Given the description of an element on the screen output the (x, y) to click on. 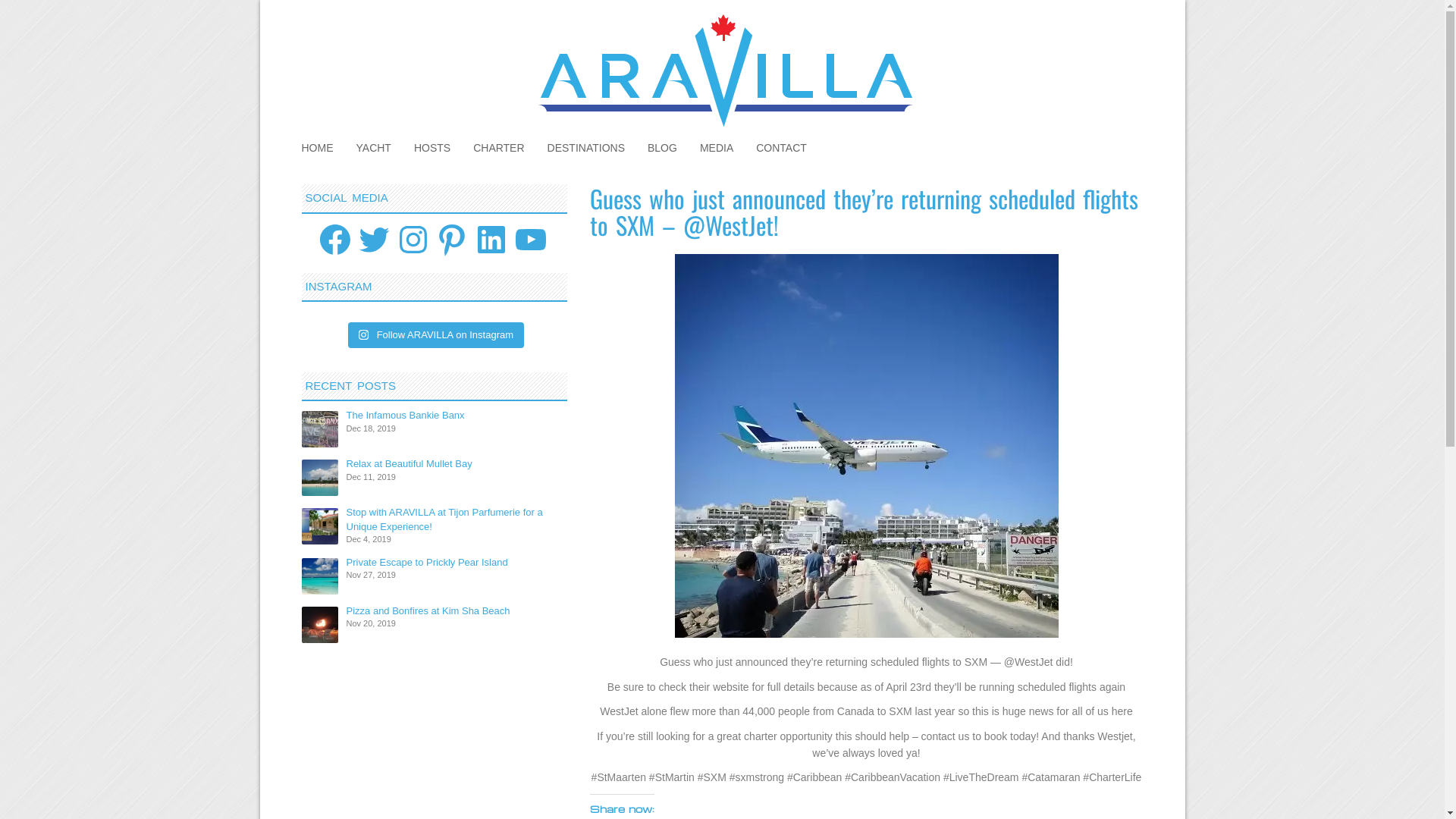
Pizza and Bonfires at Kim Sha Beach Element type: text (427, 610)
Twitter Element type: text (373, 239)
HOME Element type: text (316, 147)
HOSTS Element type: text (431, 147)
Facebook Element type: text (334, 239)
CHARTER Element type: text (498, 147)
SKIP TO CONTENT Element type: text (300, 139)
The Infamous Bankie Banx Element type: text (404, 414)
YACHT Element type: text (372, 147)
Pinterest Element type: text (451, 239)
Follow ARAVILLA on Instagram Element type: text (436, 335)
MEDIA Element type: text (716, 147)
YouTube Element type: text (530, 239)
Instagram Element type: text (413, 239)
CONTACT Element type: text (781, 147)
Private Escape to Prickly Pear Island Element type: text (426, 561)
BLOG Element type: text (662, 147)
Relax at Beautiful Mullet Bay Element type: text (408, 463)
LinkedIn Element type: text (491, 239)
DESTINATIONS Element type: text (586, 147)
